Given the description of an element on the screen output the (x, y) to click on. 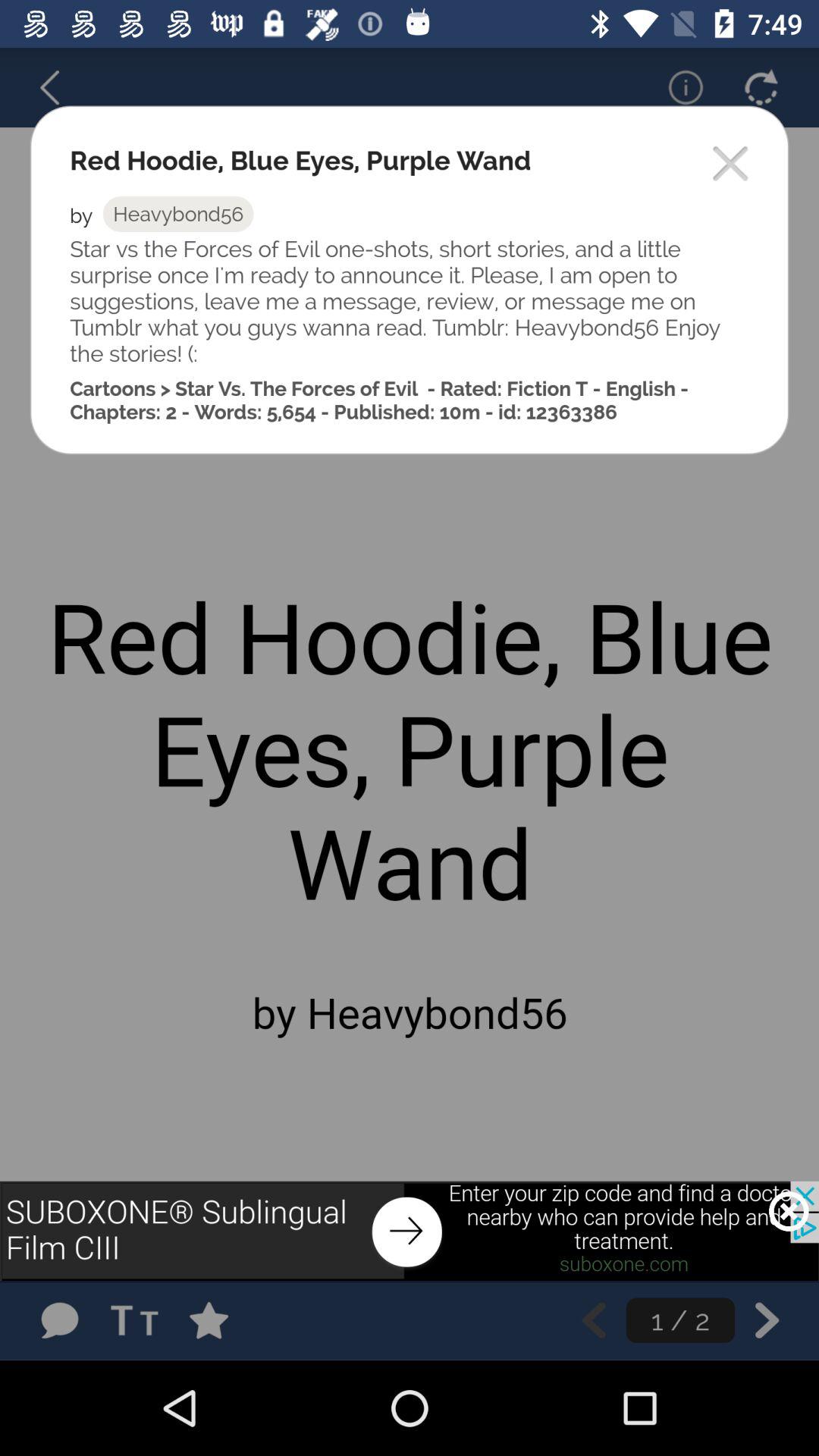
exit (731, 165)
